Given the description of an element on the screen output the (x, y) to click on. 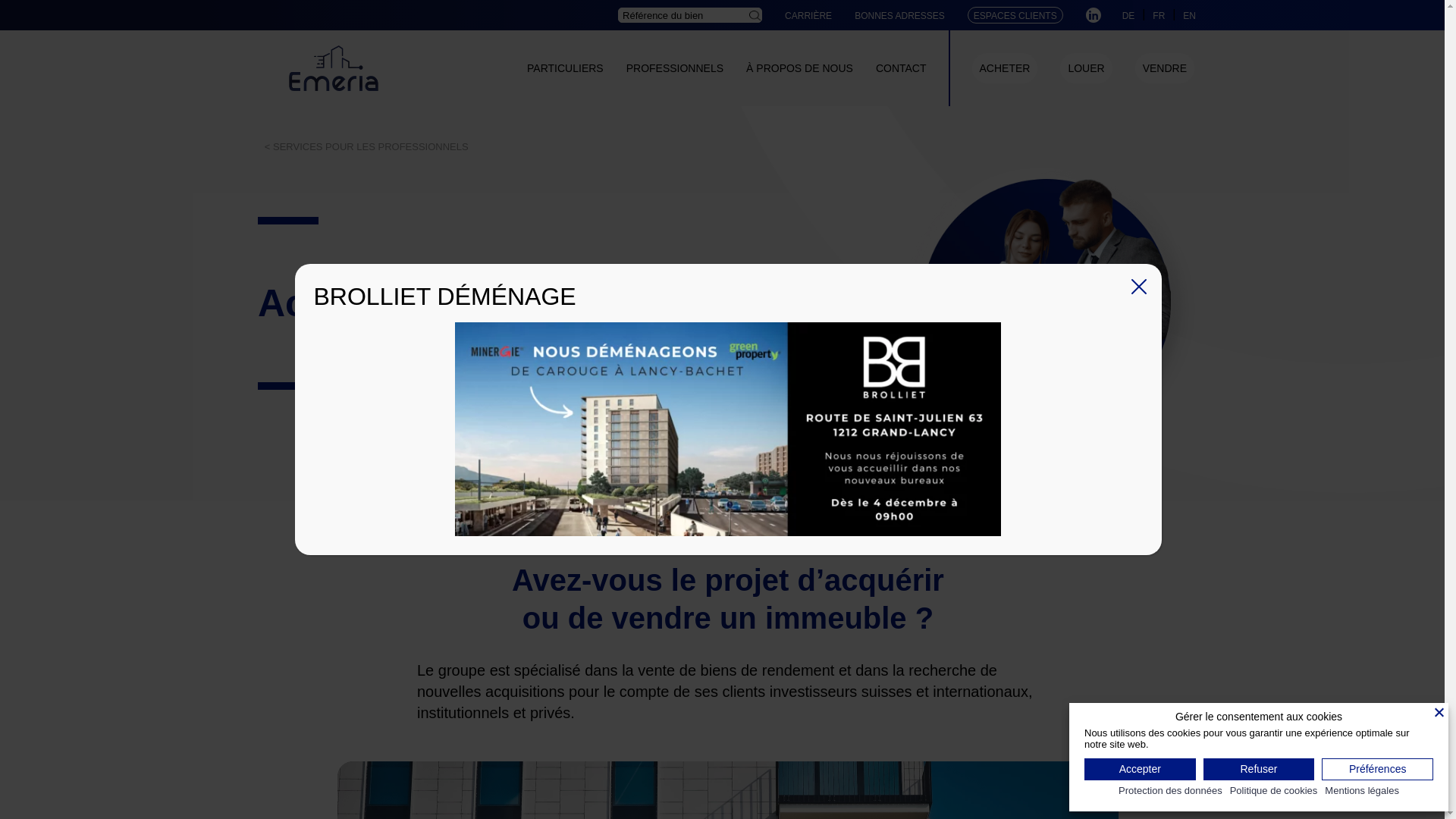
Politique de cookies Element type: text (1273, 792)
ESPACES CLIENTS Element type: text (1015, 15)
PARTICULIERS Element type: text (565, 68)
DE Element type: text (1128, 15)
BONNES ADRESSES Element type: text (899, 15)
EN Element type: text (1189, 15)
VENDRE Element type: text (1164, 68)
Trouver Emeria sur Linkedin Element type: hover (1093, 14)
X Element type: text (1138, 286)
ACHETER Element type: text (1004, 68)
CONTACT Element type: text (900, 68)
FR Element type: text (1158, 15)
Emeria Services Aux Professionnels Element type: hover (1046, 303)
PROFESSIONNELS Element type: text (674, 68)
LOUER Element type: text (1085, 68)
SERVICES POUR LES PROFESSIONNELS Element type: text (364, 146)
